Given the description of an element on the screen output the (x, y) to click on. 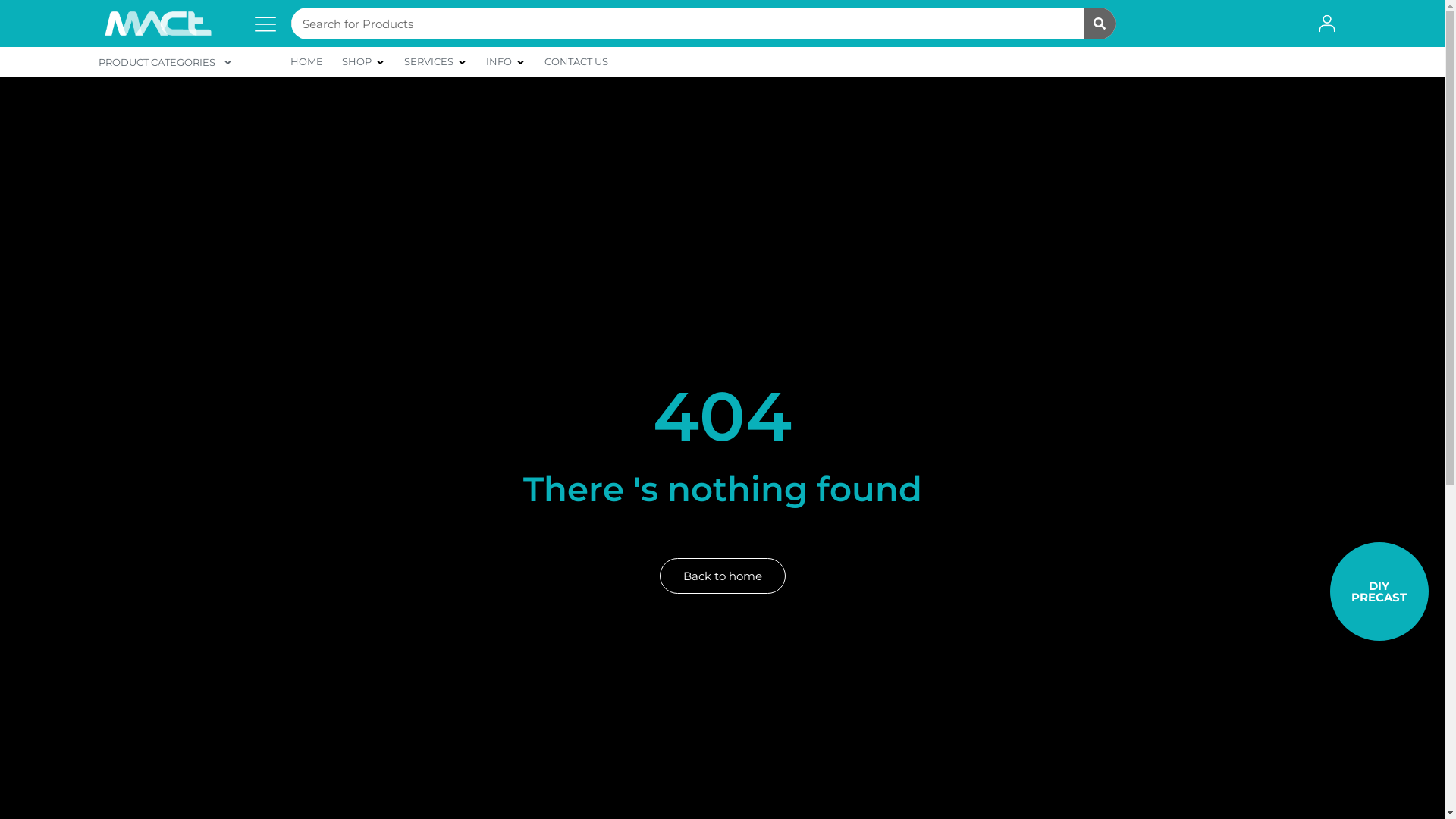
Back to home Element type: text (722, 575)
SHOP Element type: text (356, 61)
HOME Element type: text (306, 61)
DIY
PRECAST Element type: text (1378, 591)
PRODUCT CATEGORIES Element type: text (165, 61)
CONTACT US Element type: text (576, 61)
